Given the description of an element on the screen output the (x, y) to click on. 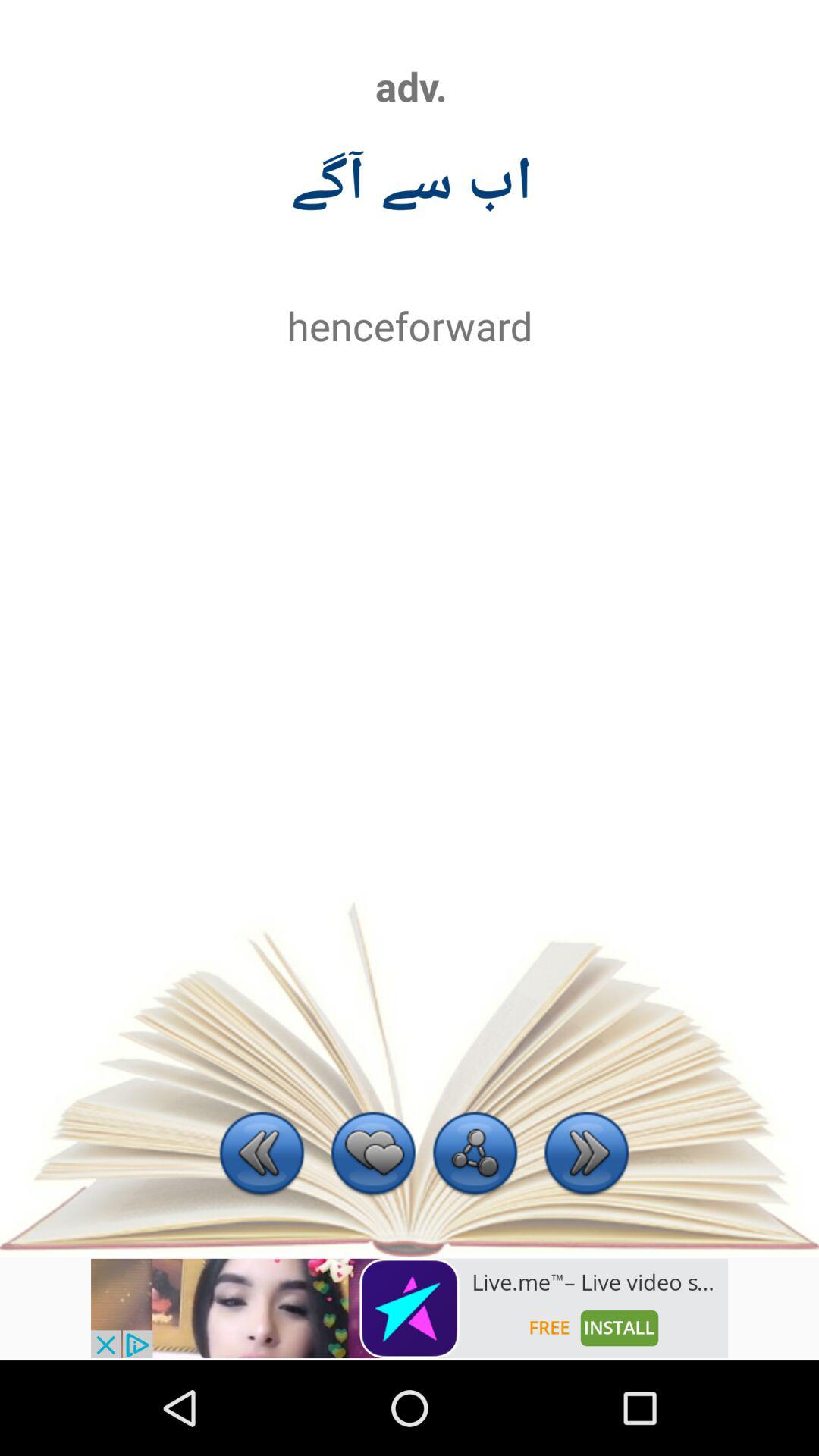
like the photo (373, 1155)
